Given the description of an element on the screen output the (x, y) to click on. 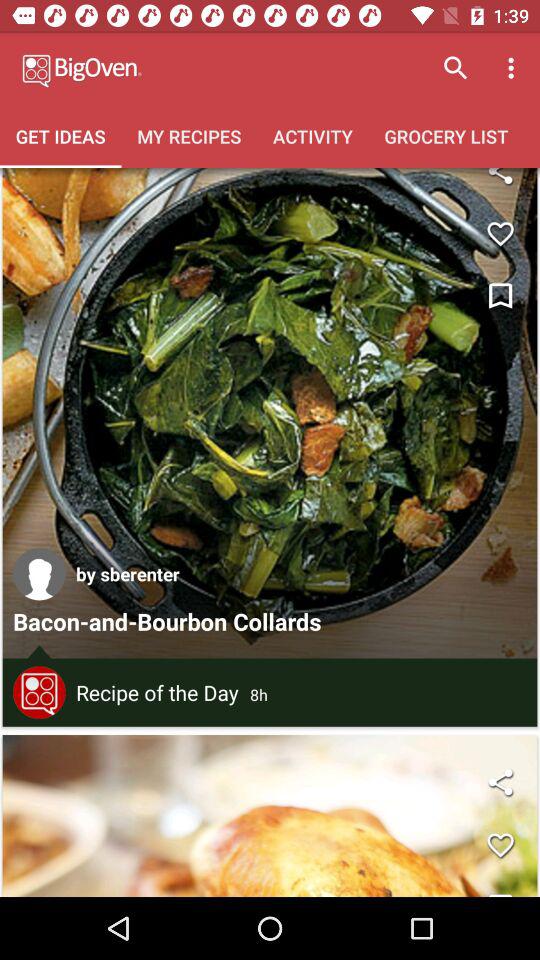
zoom the image (500, 182)
